Given the description of an element on the screen output the (x, y) to click on. 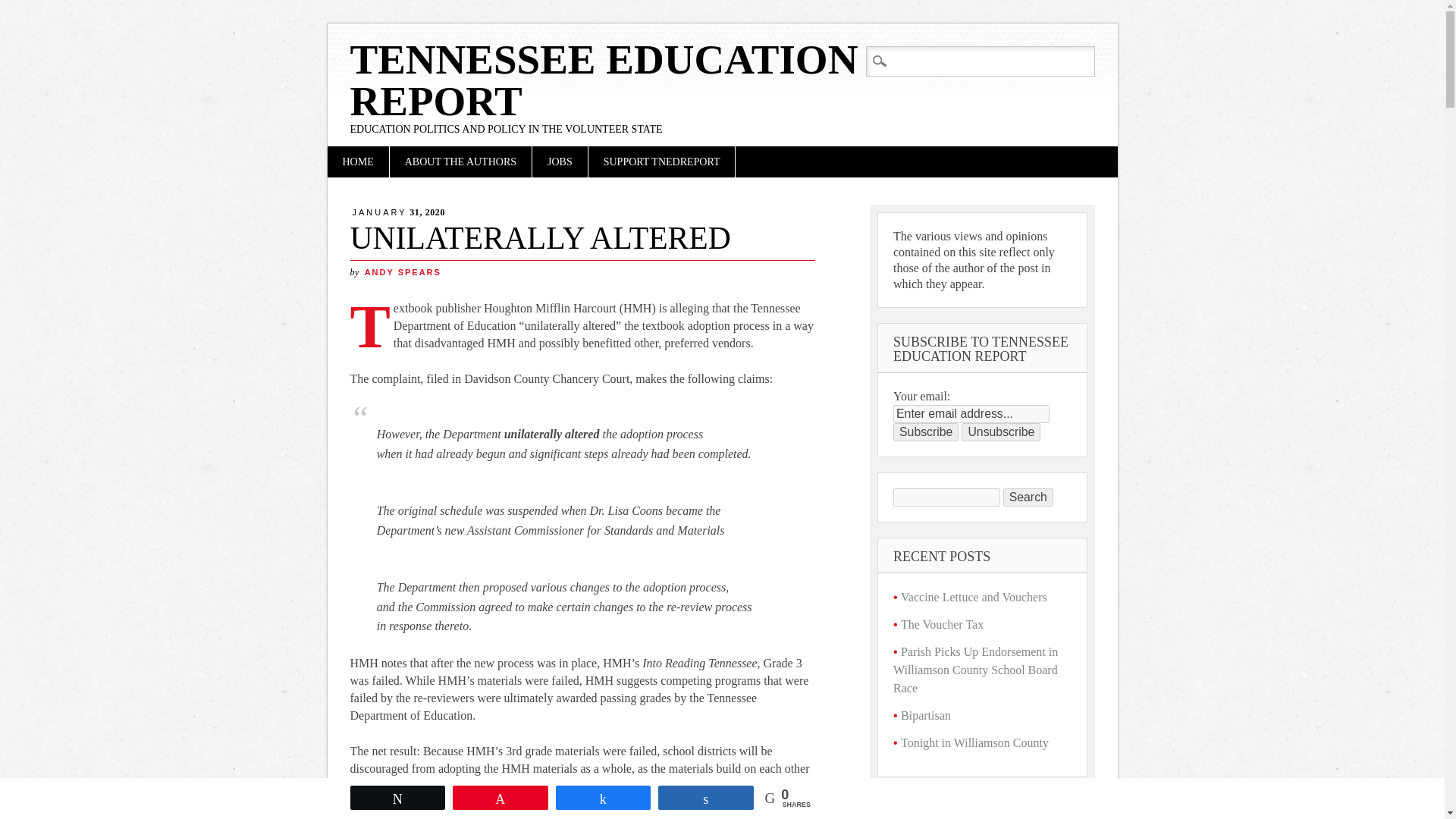
Unsubscribe (1000, 432)
3:51 pm (399, 212)
Subscribe (925, 432)
Tennessee Education Report (604, 80)
Search (24, 9)
Enter email address... (971, 413)
Vaccine Lettuce and Vouchers (973, 596)
View all posts by Andy Spears (403, 271)
TENNESSEE EDUCATION REPORT (604, 80)
ABOUT THE AUTHORS (460, 161)
Search (1027, 497)
HOME (357, 161)
JOBS (560, 161)
Subscribe (925, 432)
